Given the description of an element on the screen output the (x, y) to click on. 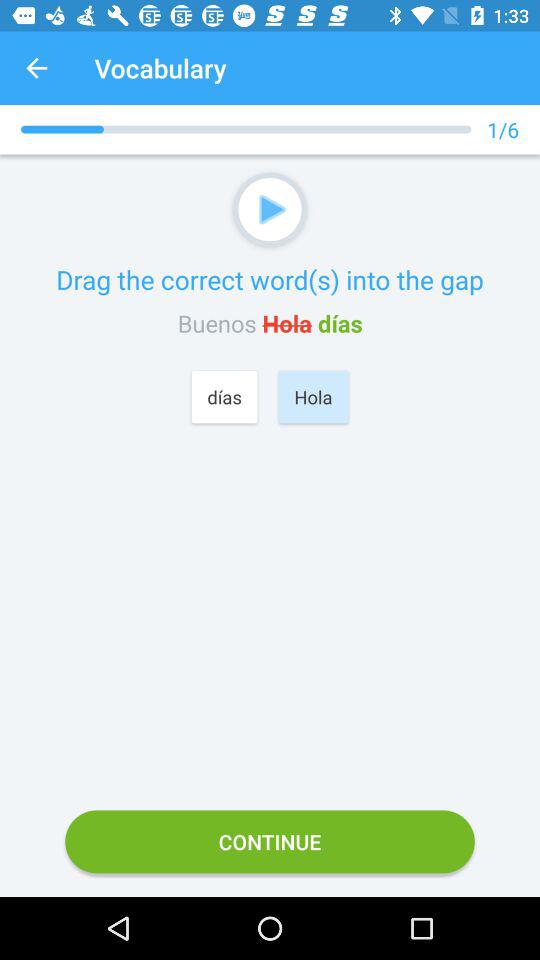
turn off continue item (269, 841)
